Given the description of an element on the screen output the (x, y) to click on. 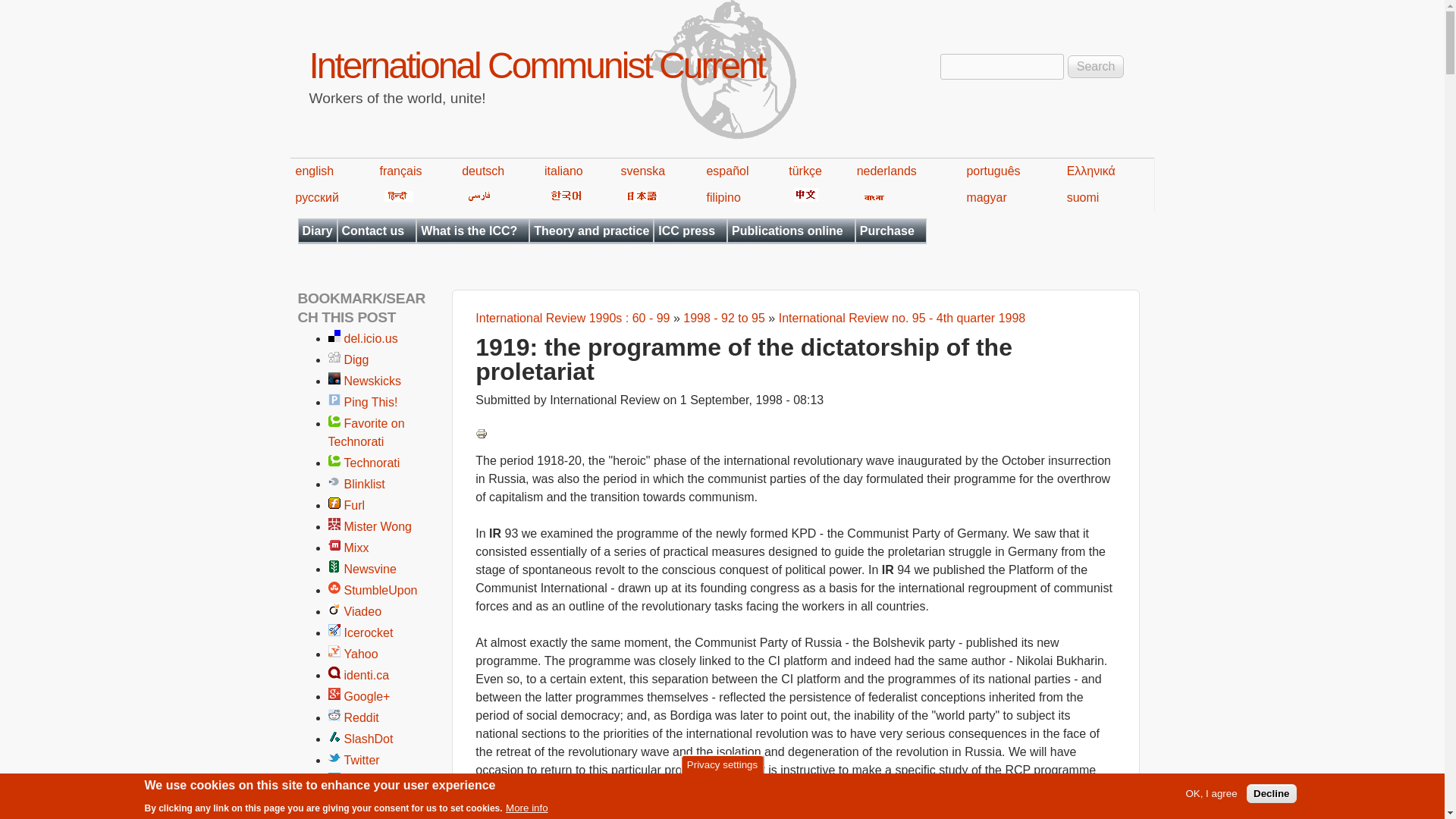
Search (1095, 66)
Search (1095, 66)
svenska (643, 170)
nederlands (887, 170)
bangla (871, 196)
International Communist Current (536, 65)
filipino (722, 196)
hindi (395, 196)
Enter the terms you wish to search for. (1002, 66)
Diary (317, 230)
What is the ICC? (472, 230)
farsi (476, 196)
Articles about the ICC (472, 230)
Theory and practice (590, 230)
